Given the description of an element on the screen output the (x, y) to click on. 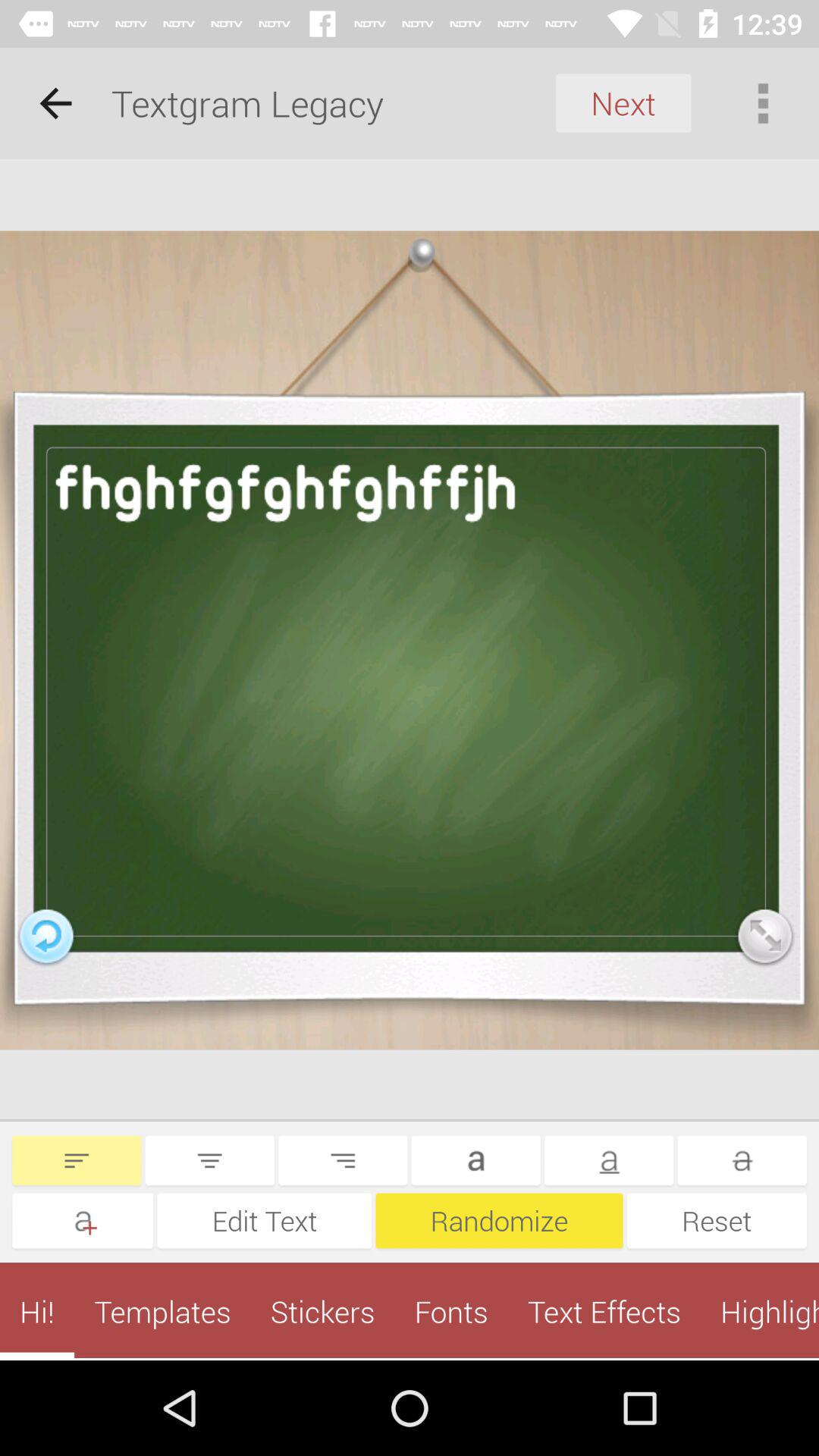
press item to the right of the textgram legacy icon (623, 102)
